Given the description of an element on the screen output the (x, y) to click on. 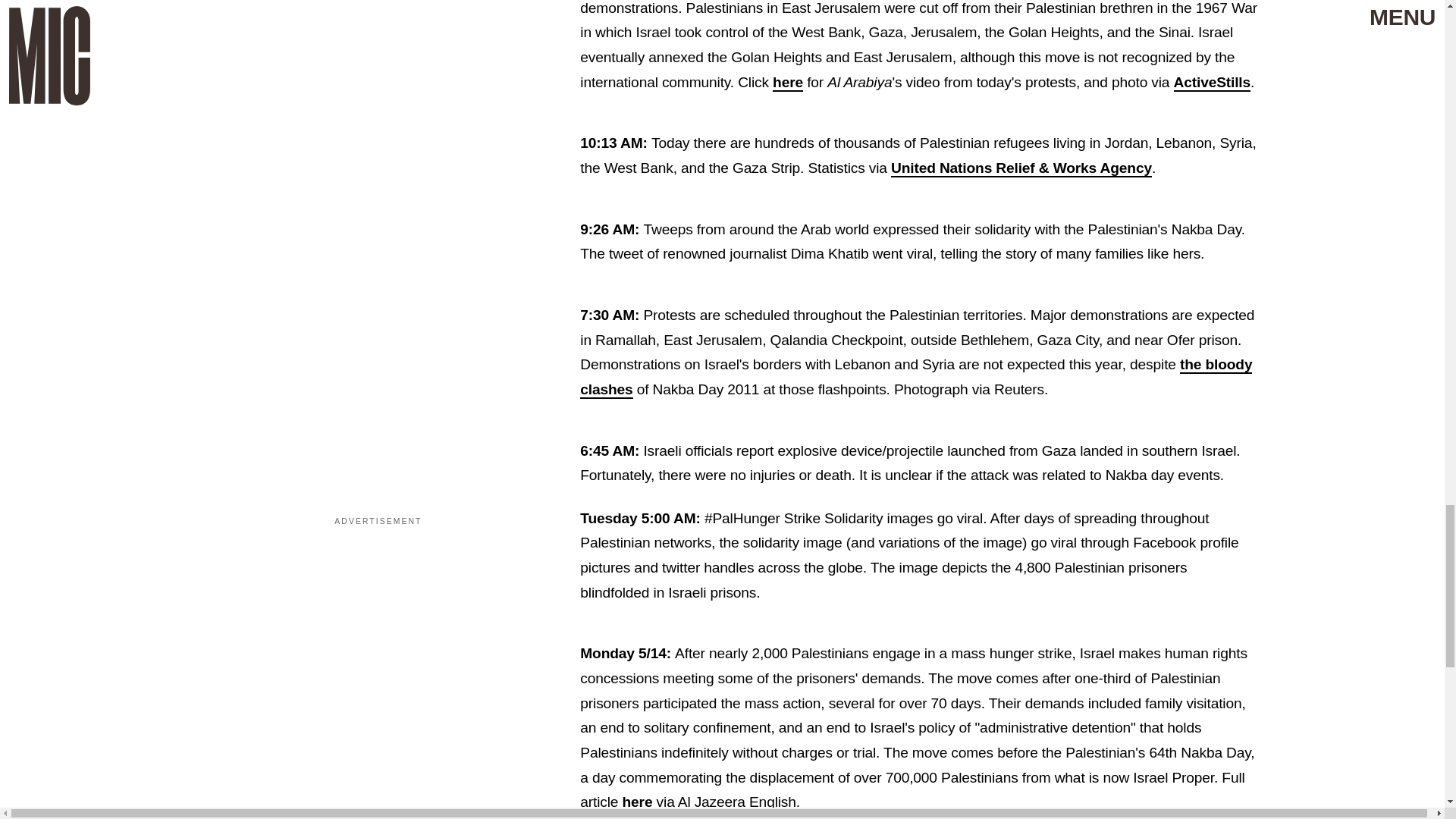
here (788, 82)
the bloody clashes (915, 377)
ActiveStills (1211, 82)
here (637, 802)
